Given the description of an element on the screen output the (x, y) to click on. 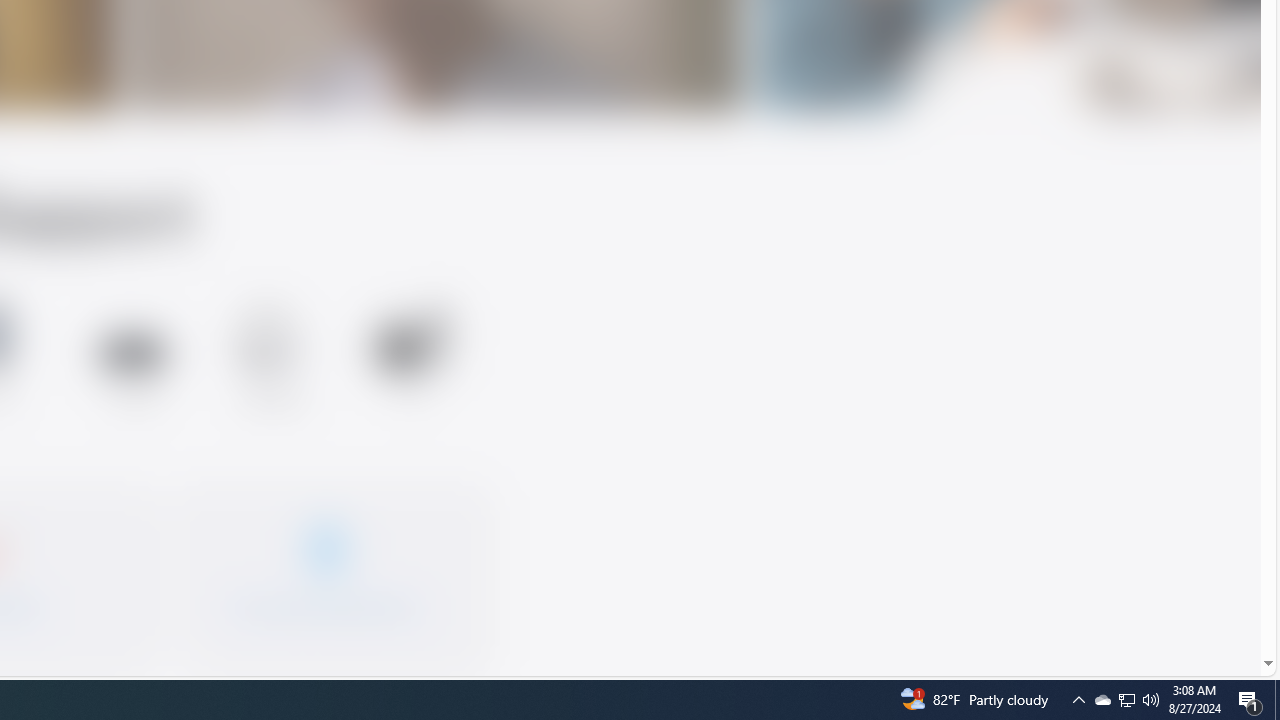
Billing and subscriptions (326, 570)
Apple Vision Pro Support (132, 358)
AirPods Support (272, 362)
TV Support (412, 358)
